Given the description of an element on the screen output the (x, y) to click on. 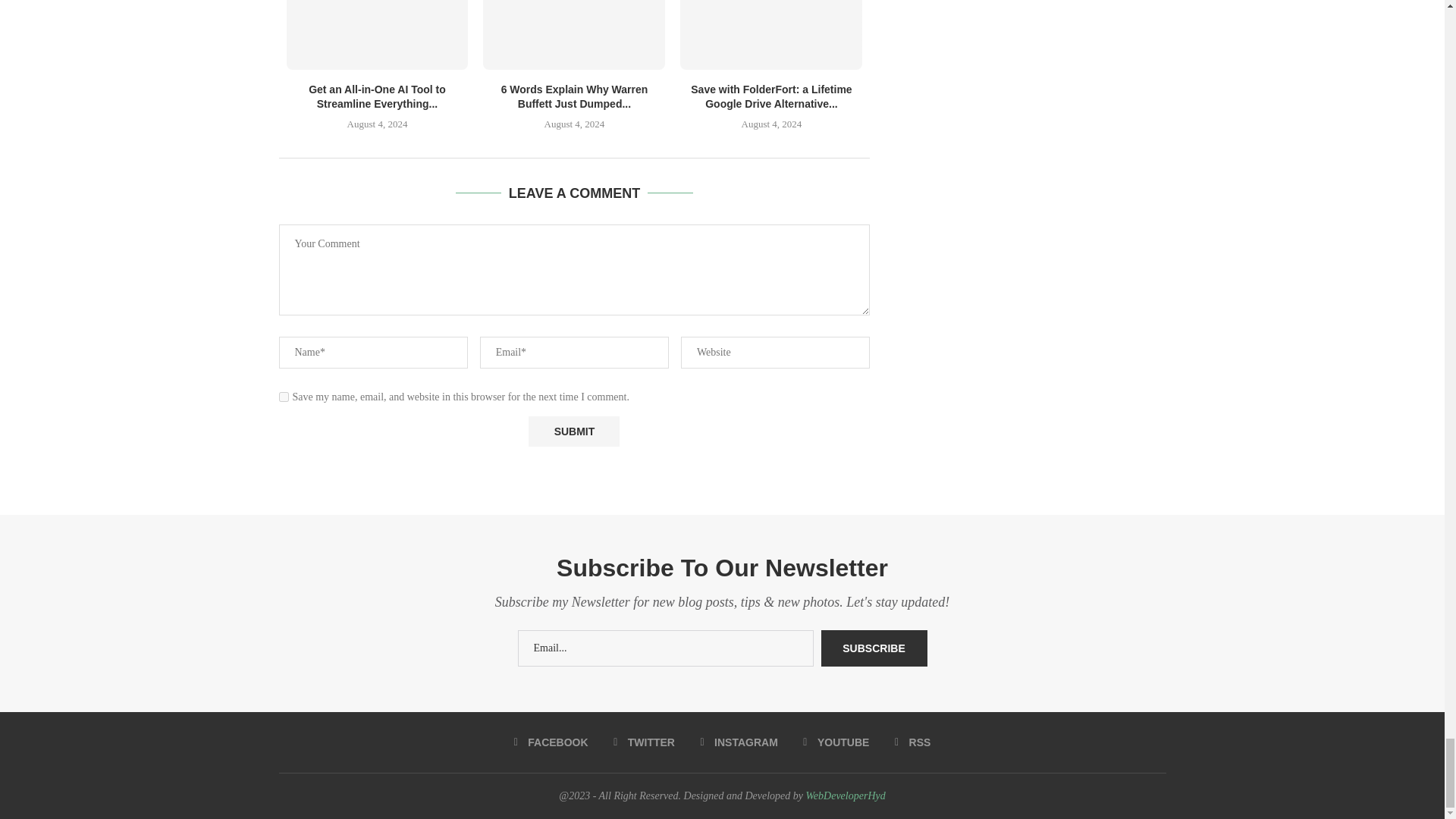
yes (283, 397)
Submit (574, 431)
Subscribe (873, 647)
